Given the description of an element on the screen output the (x, y) to click on. 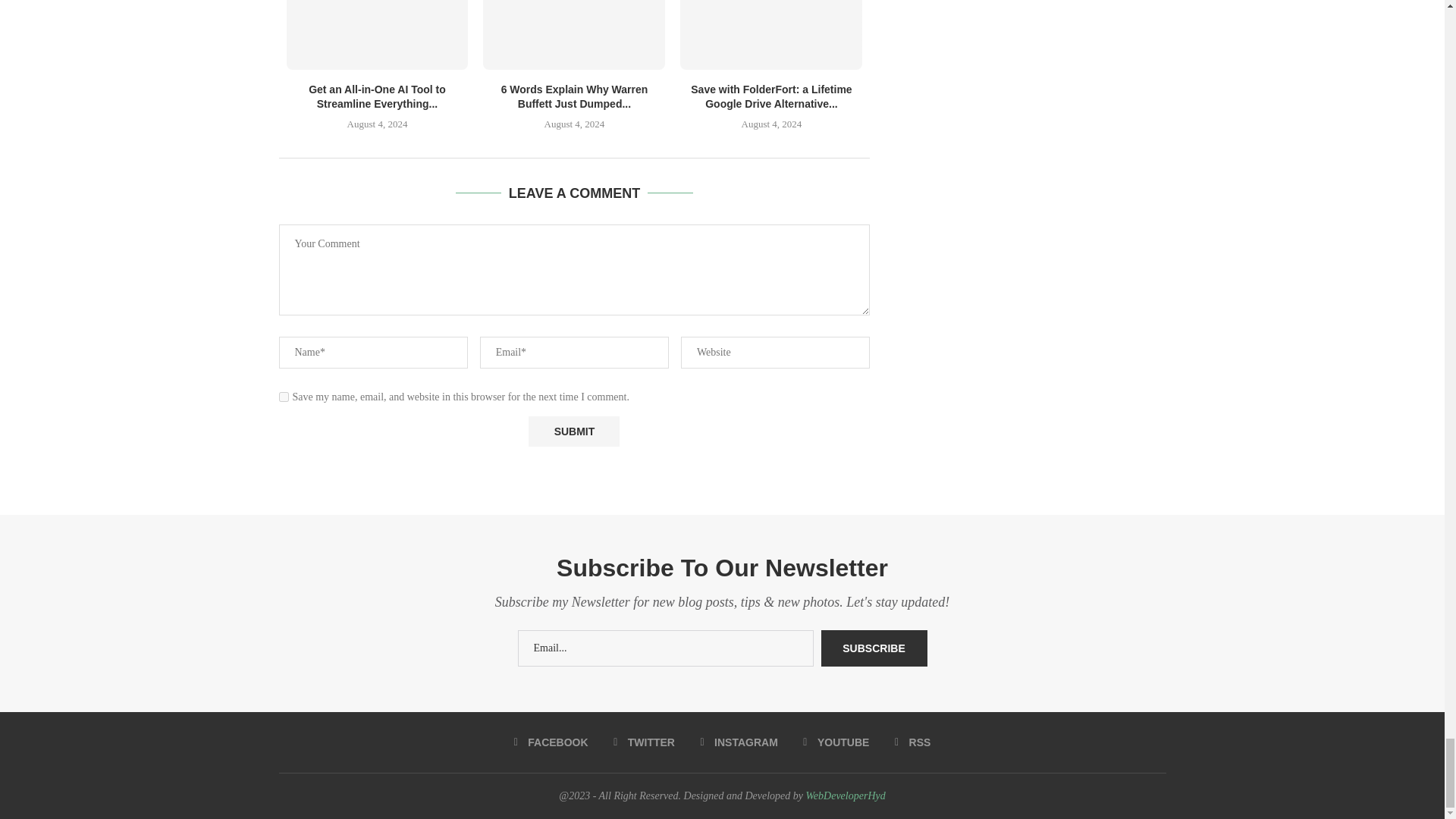
yes (283, 397)
Submit (574, 431)
Subscribe (873, 647)
